Given the description of an element on the screen output the (x, y) to click on. 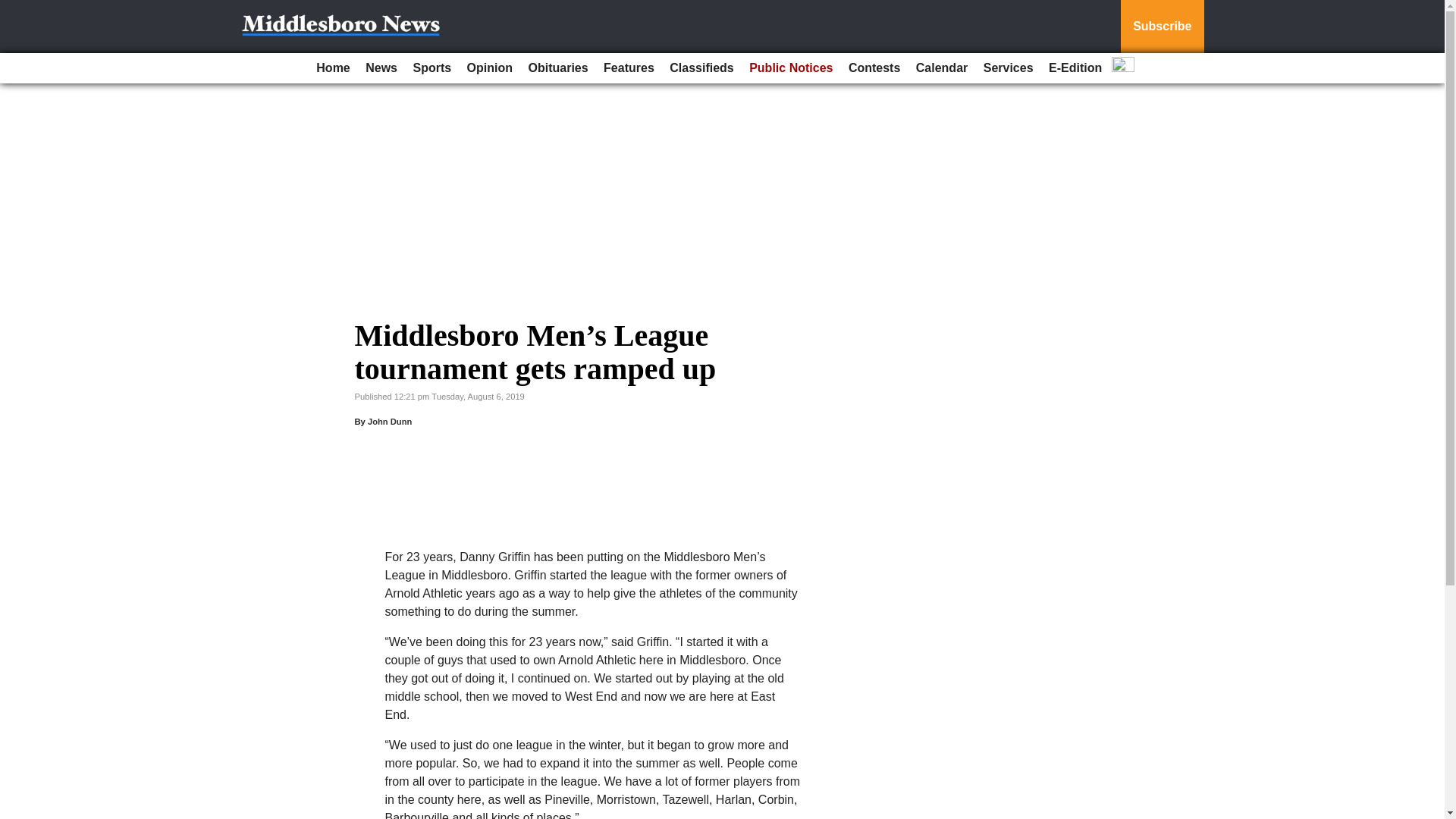
Public Notices (790, 68)
Subscribe (1162, 26)
Opinion (489, 68)
E-Edition (1075, 68)
Services (1007, 68)
Obituaries (557, 68)
Go (13, 9)
News (381, 68)
Sports (431, 68)
Home (332, 68)
